Given the description of an element on the screen output the (x, y) to click on. 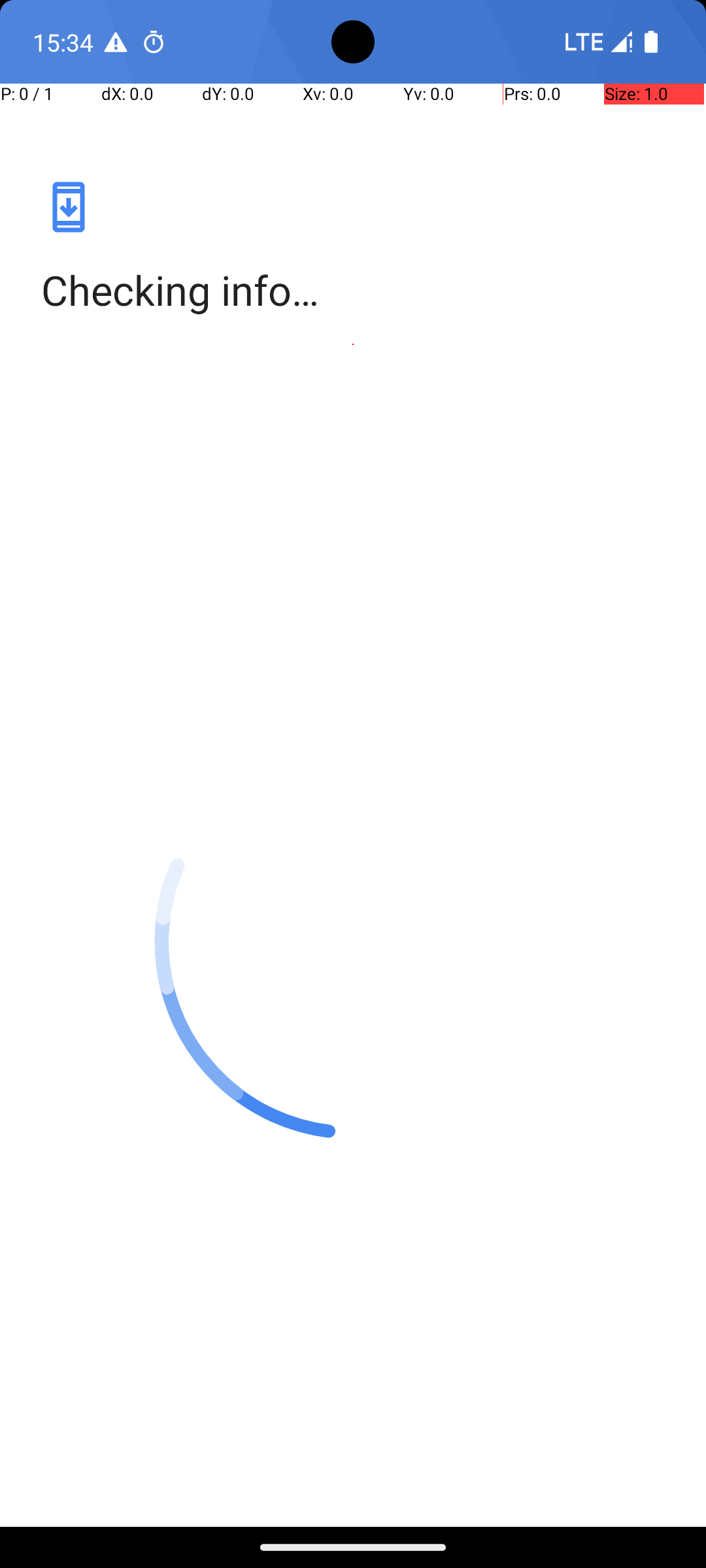
Checking info… Element type: android.widget.TextView (352, 289)
